Given the description of an element on the screen output the (x, y) to click on. 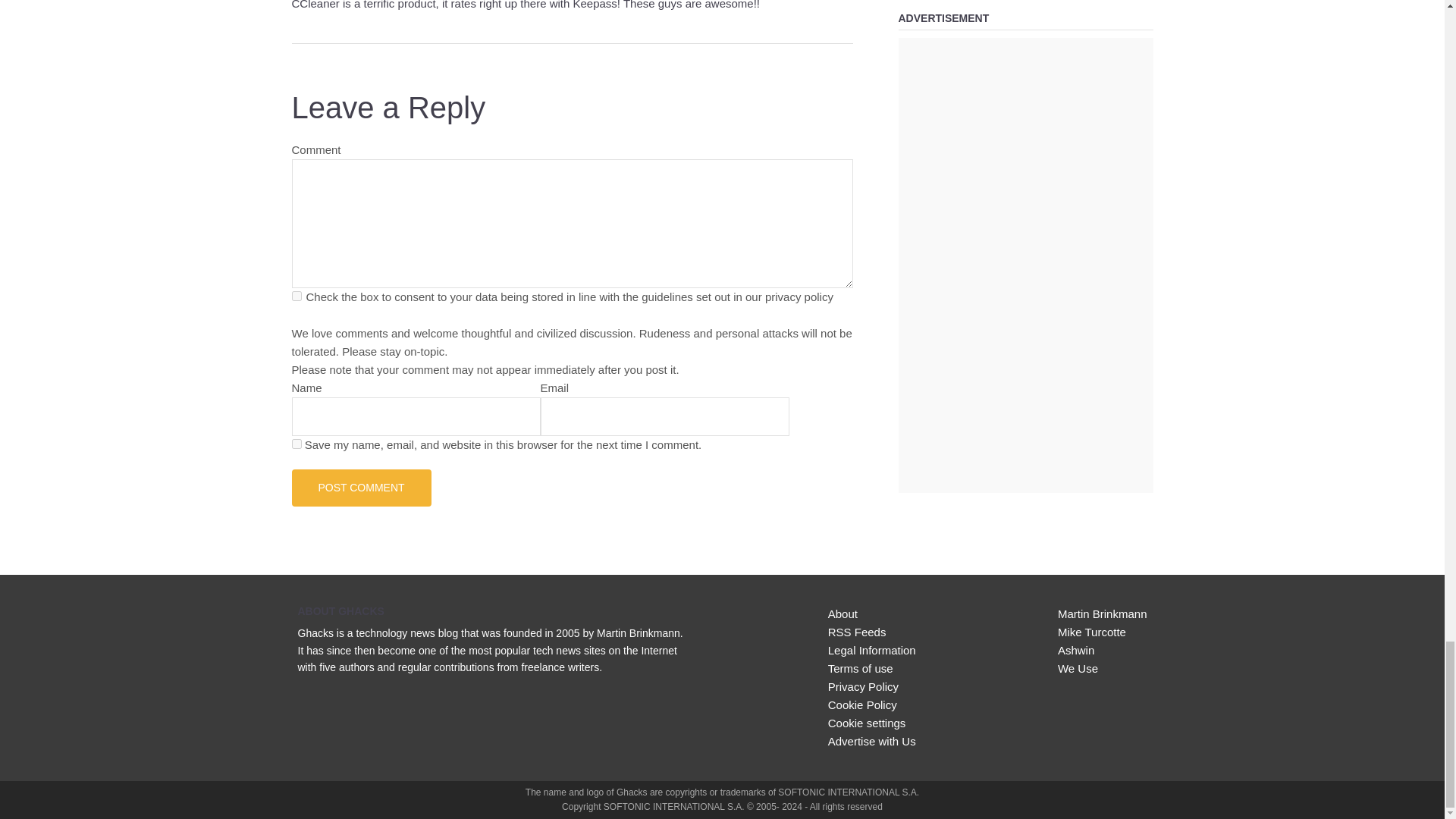
privacy-key (296, 296)
Post Comment (360, 487)
yes (296, 443)
